Given the description of an element on the screen output the (x, y) to click on. 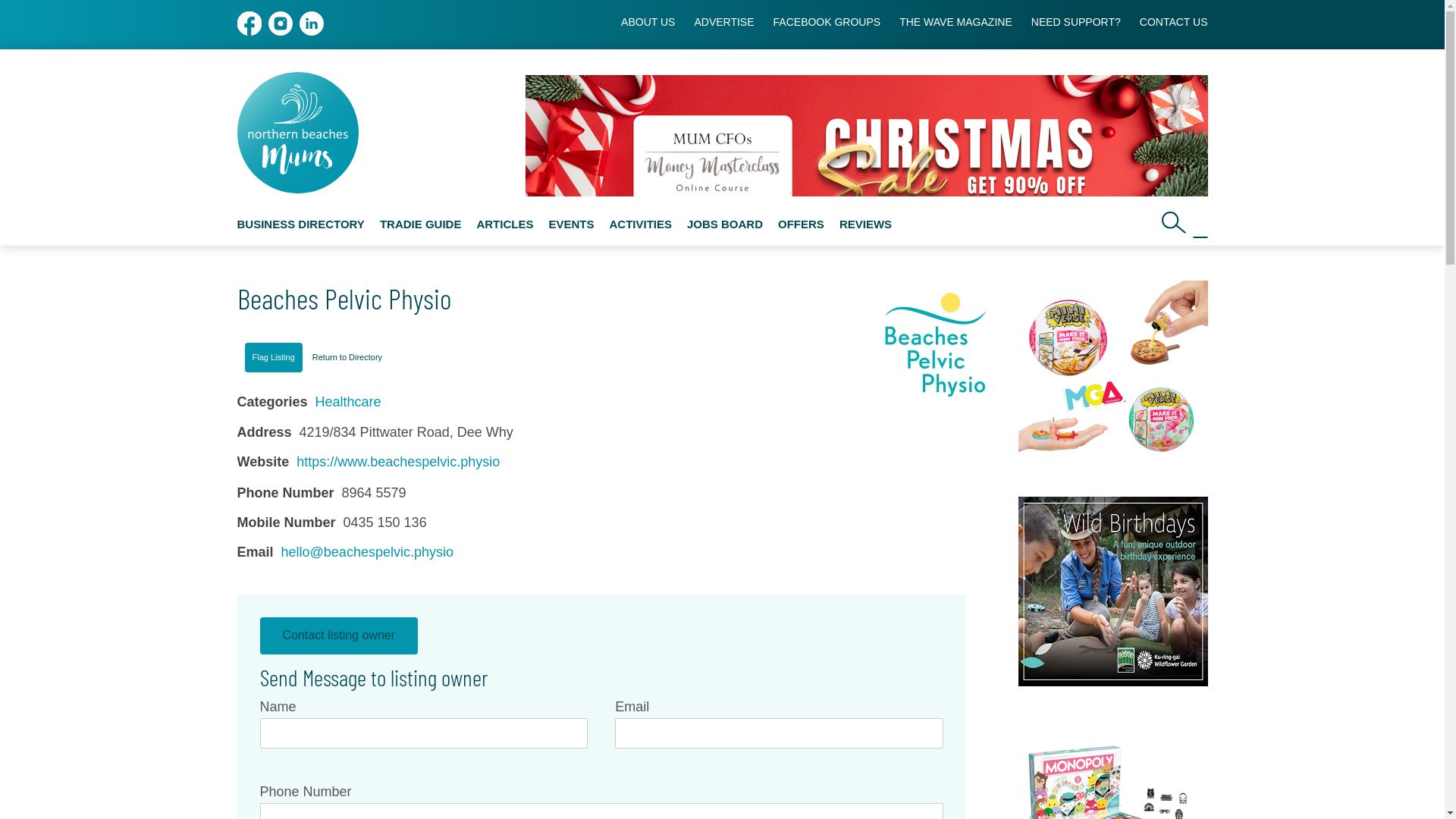
hello@beachespelvic.physio Element type: text (367, 552)
THE WAVE MAGAZINE Element type: text (955, 21)
TRADIE GUIDE Element type: text (420, 223)
EVENTS Element type: text (570, 223)
Beaches Pelvic Physio Element type: hover (934, 344)
NEED SUPPORT? Element type: text (1075, 21)
Flag Listing Element type: text (272, 357)
JOBS BOARD Element type: text (724, 223)
BUSINESS DIRECTORY Element type: text (300, 223)
Return to Directory Element type: text (347, 358)
ARTICLES Element type: text (504, 223)
https://www.beachespelvic.physio Element type: text (397, 462)
Healthcare Element type: text (348, 402)
ABOUT US Element type: text (647, 21)
Contact listing owner Element type: text (338, 635)
CONTACT US Element type: text (1173, 21)
ACTIVITIES Element type: text (639, 223)
OFFERS Element type: text (801, 223)
ADVERTISE Element type: text (723, 21)
FACEBOOK GROUPS Element type: text (827, 21)
REVIEWS Element type: text (865, 223)
